Given the description of an element on the screen output the (x, y) to click on. 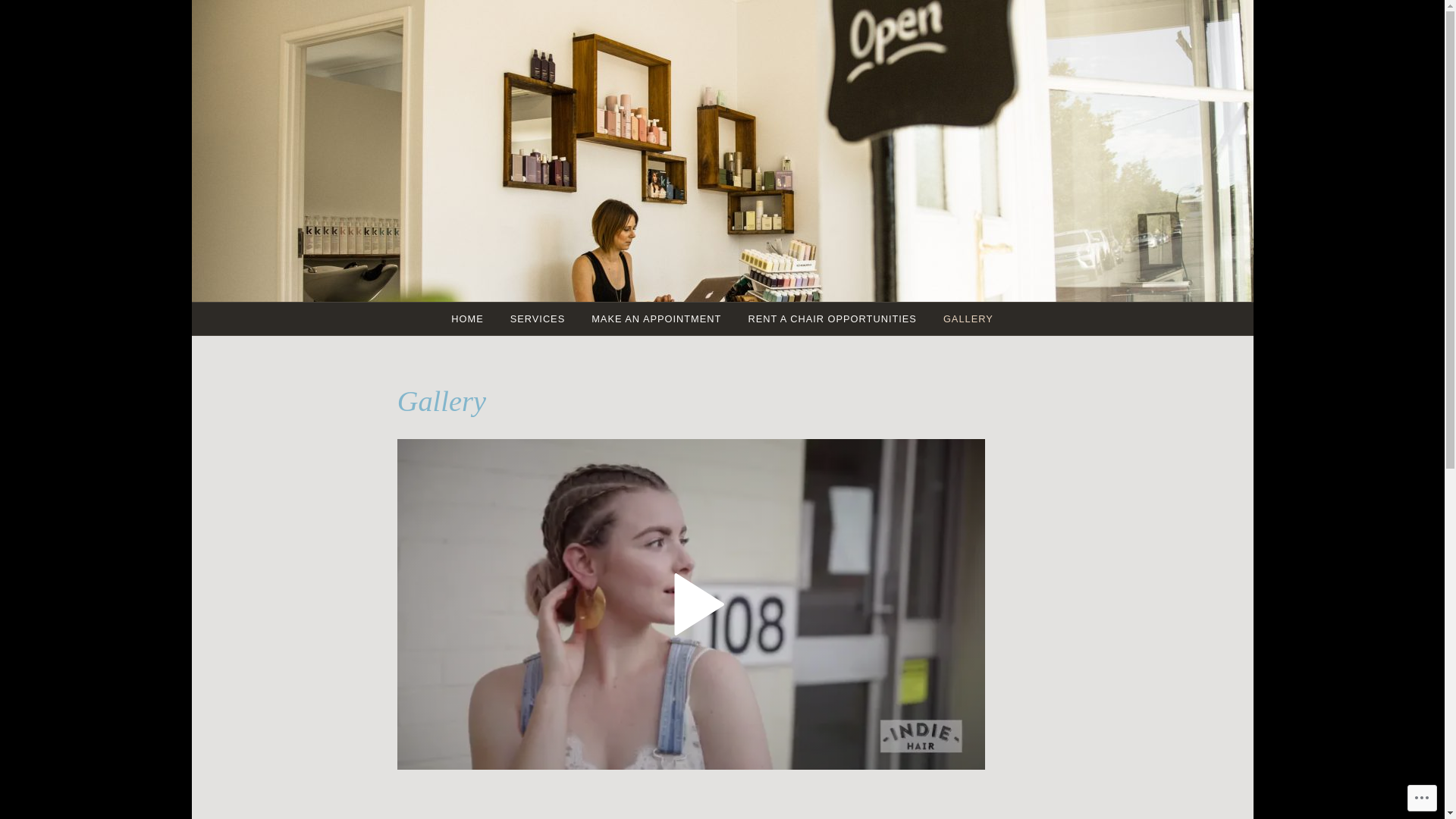
RENT A CHAIR OPPORTUNITIES Element type: text (832, 318)
VideoPress Video Player Element type: hover (691, 604)
SERVICES Element type: text (537, 318)
MAKE AN APPOINTMENT Element type: text (656, 318)
INDIE HAIR SALON Element type: text (752, 181)
HOME Element type: text (466, 318)
GALLERY Element type: text (967, 318)
